Given the description of an element on the screen output the (x, y) to click on. 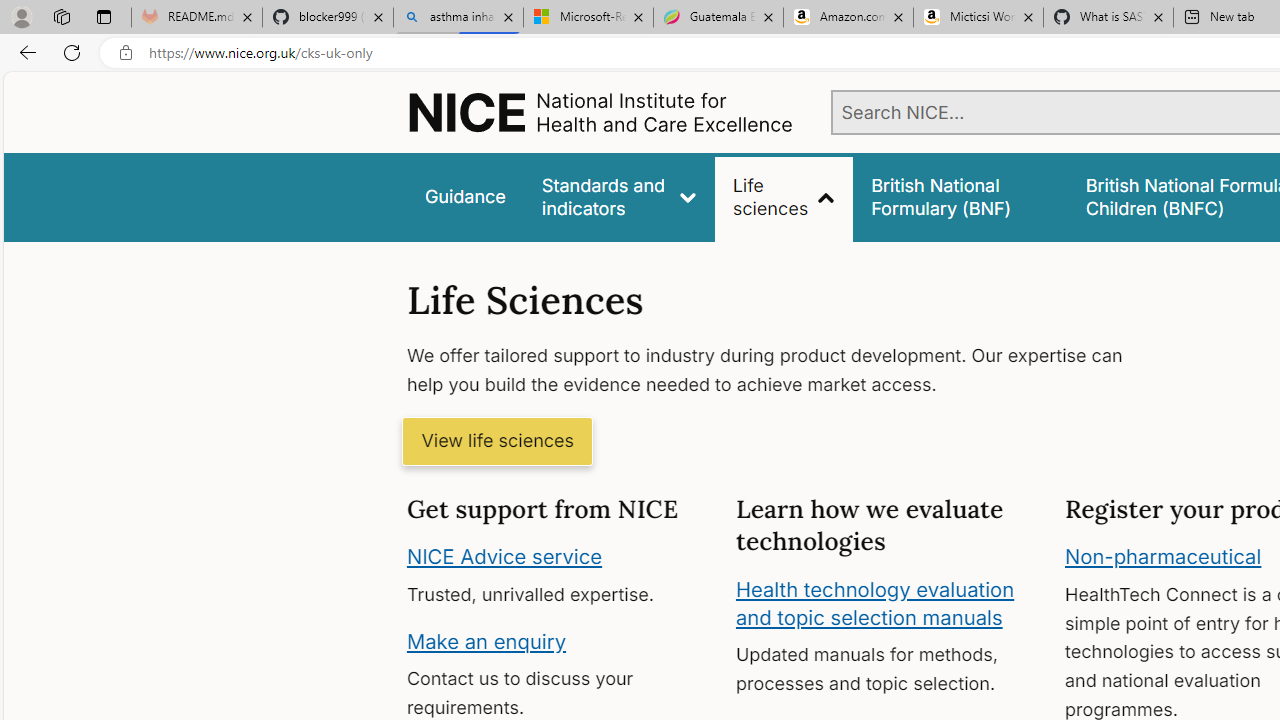
NICE Advice service (503, 557)
asthma inhaler - Search (458, 17)
Health technology evaluation and topic selection manuals (874, 603)
